Given the description of an element on the screen output the (x, y) to click on. 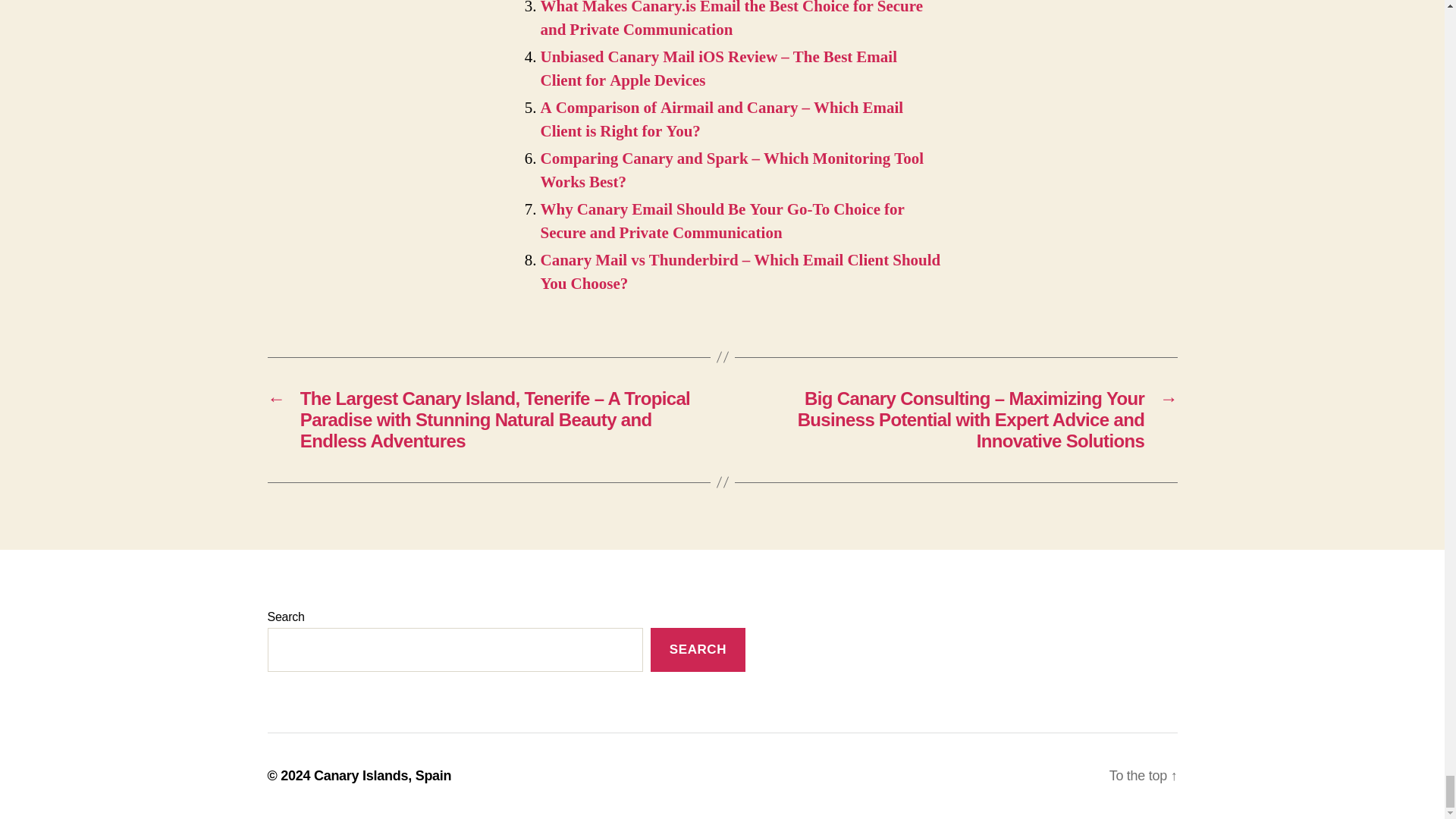
Canary Islands, Spain (382, 775)
SEARCH (697, 650)
